Given the description of an element on the screen output the (x, y) to click on. 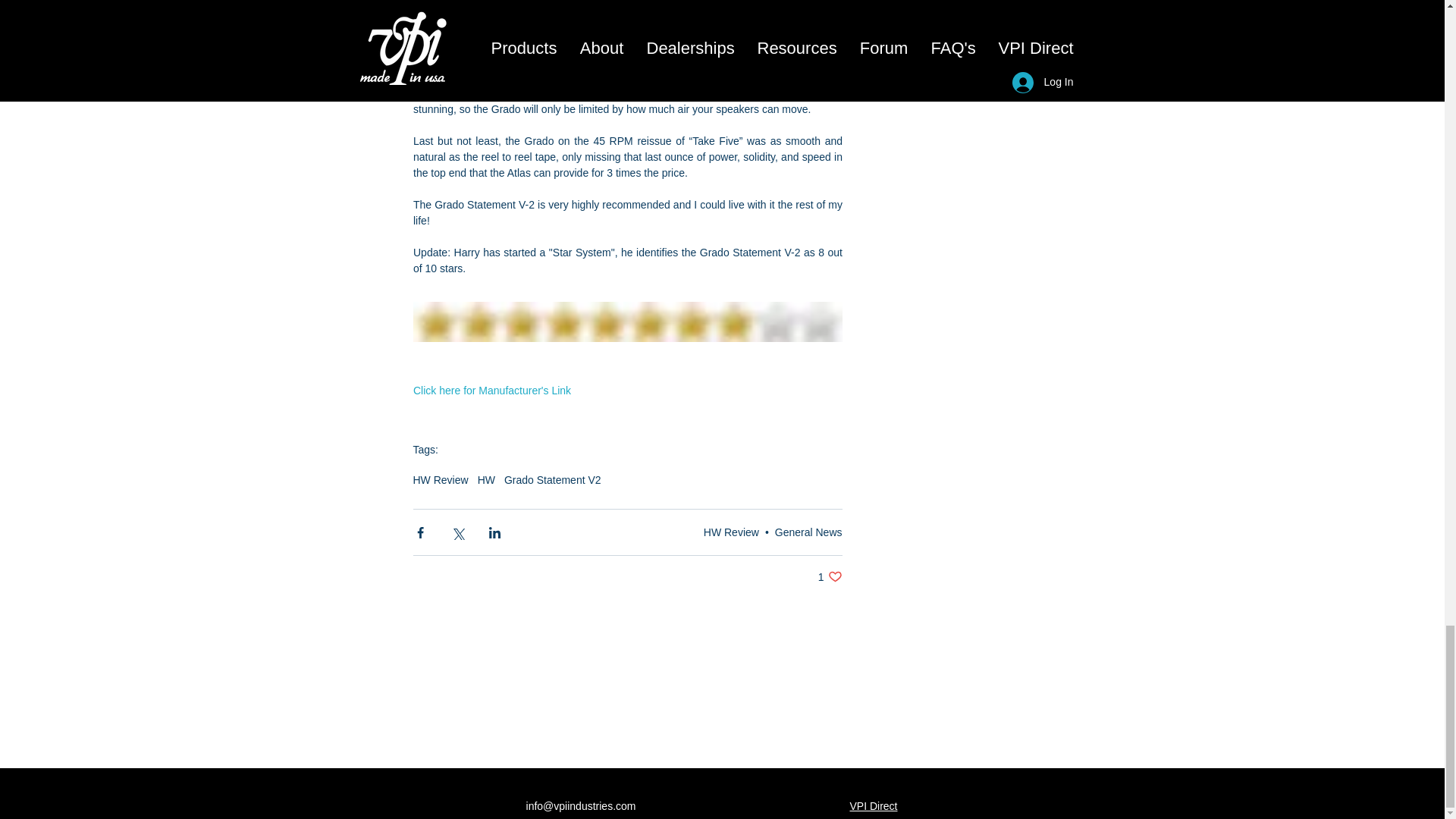
Grado Statement V2 (552, 480)
HW Review (439, 480)
HW Review (830, 576)
HW (730, 532)
General News (486, 480)
Click here for Manufacturer's Link (808, 532)
